Given the description of an element on the screen output the (x, y) to click on. 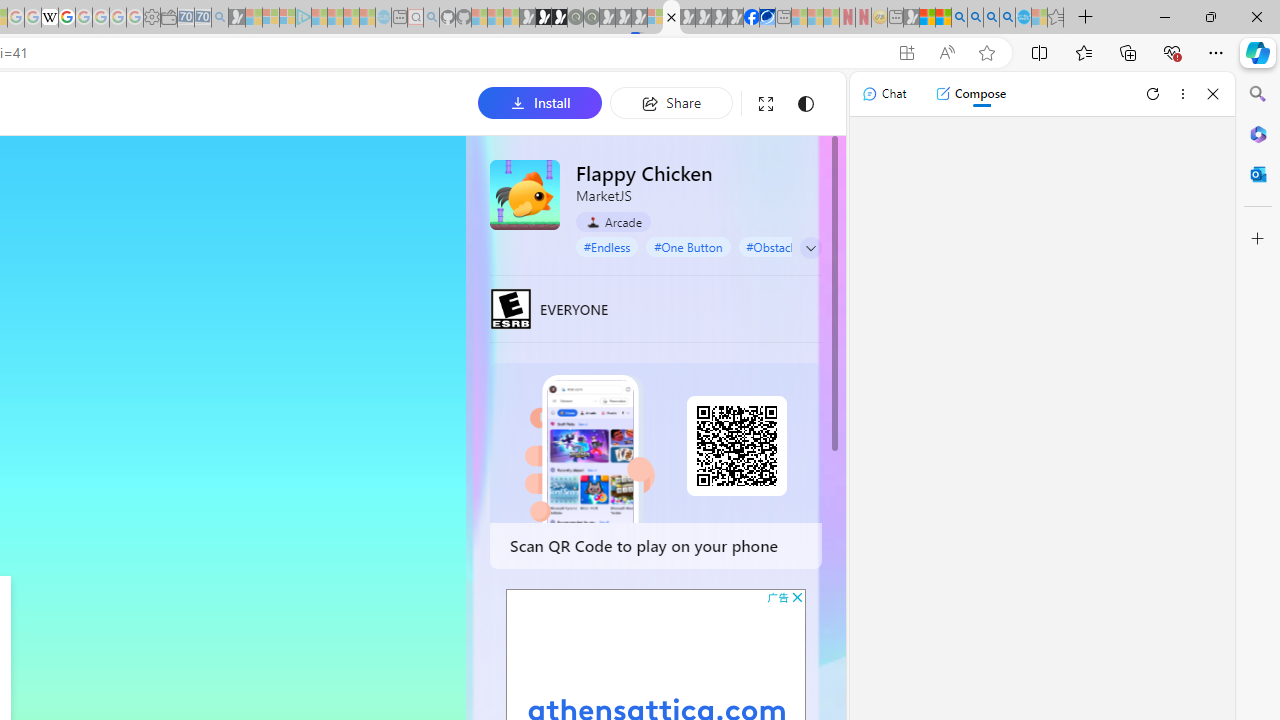
EVERYONE (511, 308)
AirNow.gov (767, 17)
Install (540, 102)
Target page - Wikipedia (49, 17)
